Given the description of an element on the screen output the (x, y) to click on. 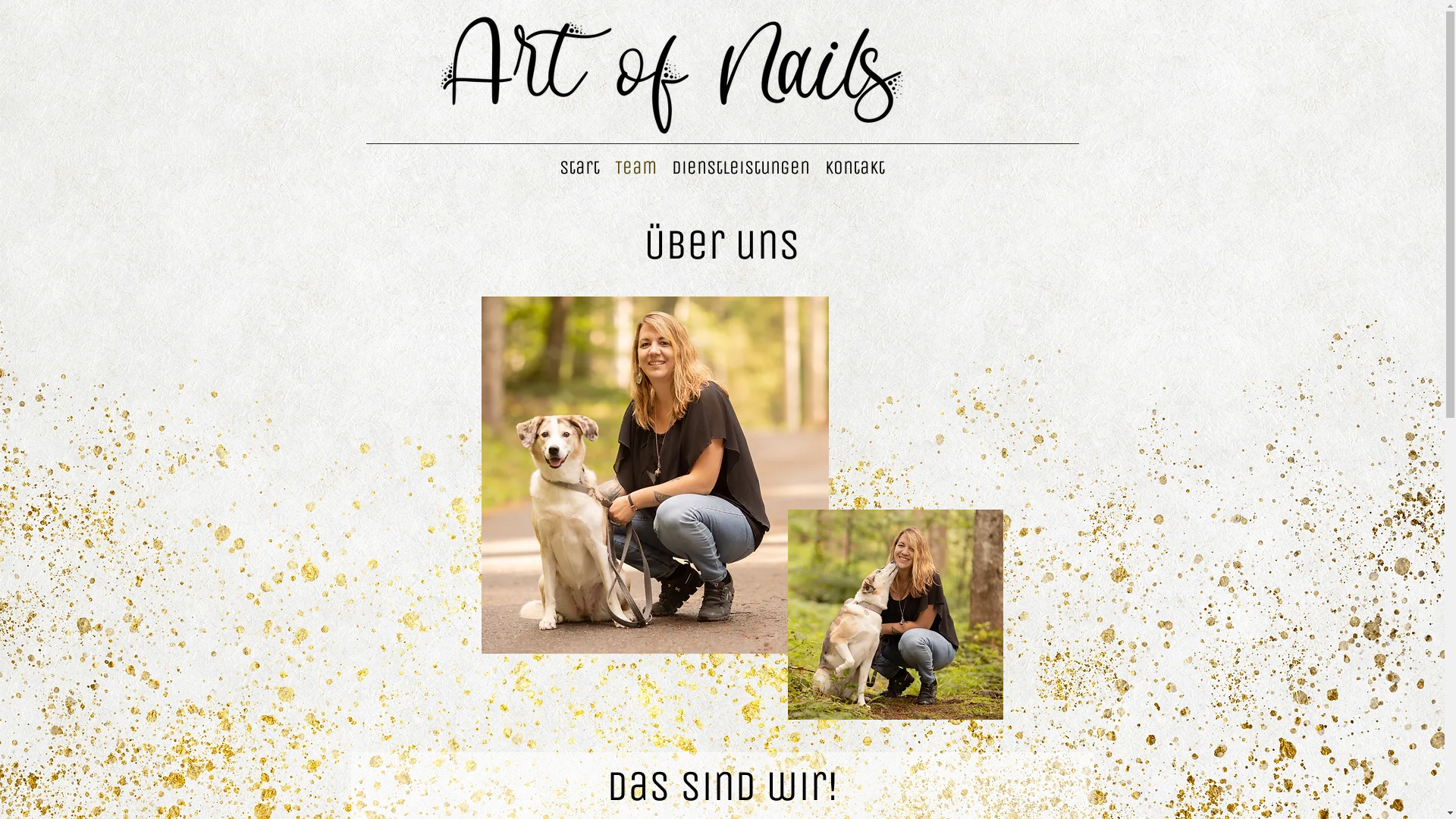
Dienstleistungen Element type: text (740, 167)
Team Element type: text (635, 167)
Kontakt Element type: text (854, 167)
Start Element type: text (579, 167)
